Given the description of an element on the screen output the (x, y) to click on. 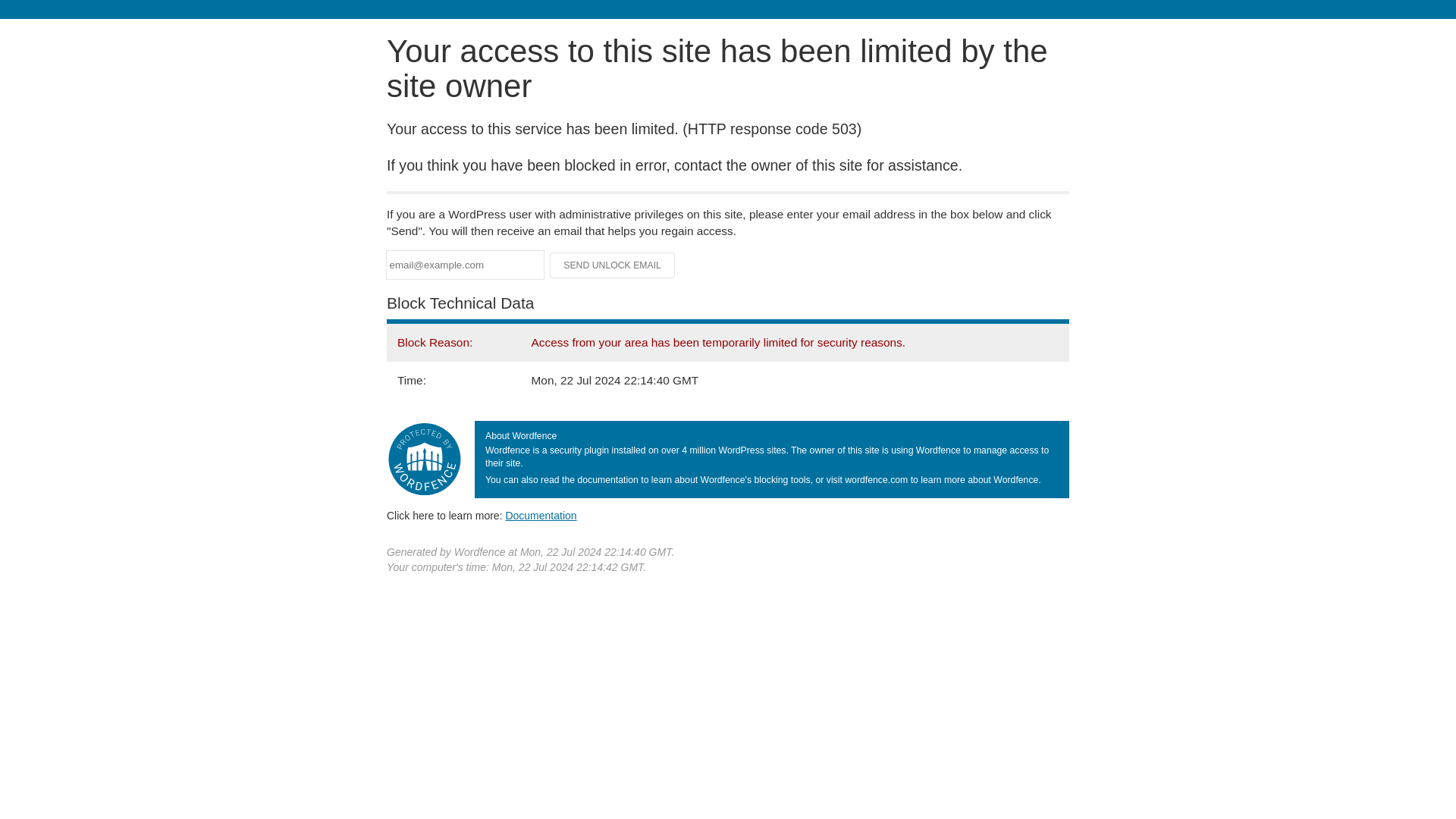
Documentation (540, 515)
Send Unlock Email (612, 265)
Send Unlock Email (612, 265)
